Given the description of an element on the screen output the (x, y) to click on. 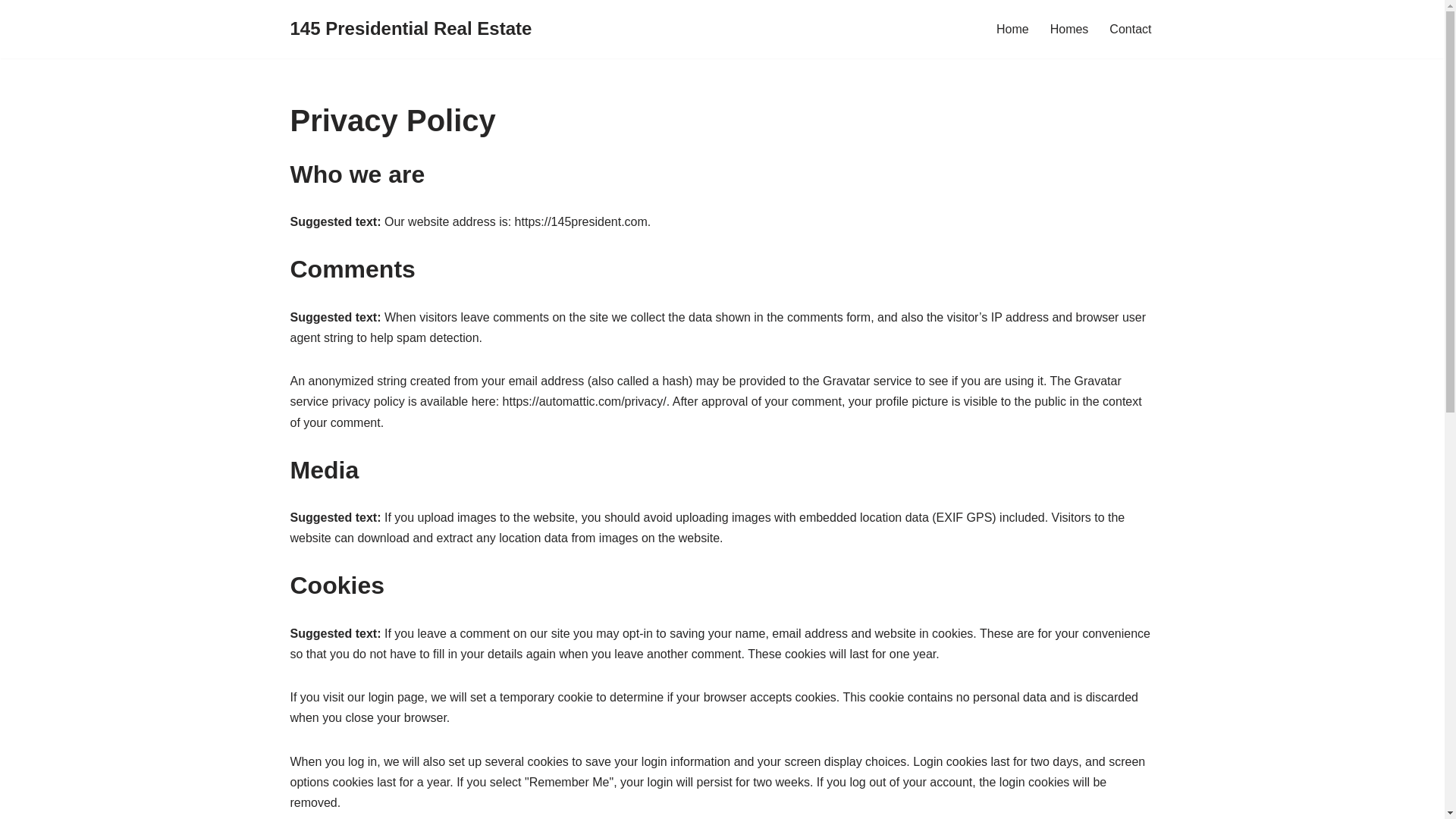
145 Presidential Real Estate Element type: text (410, 28)
Skip to content Element type: text (11, 31)
Homes Element type: text (1069, 28)
Contact Element type: text (1130, 28)
Home Element type: text (1012, 28)
